Given the description of an element on the screen output the (x, y) to click on. 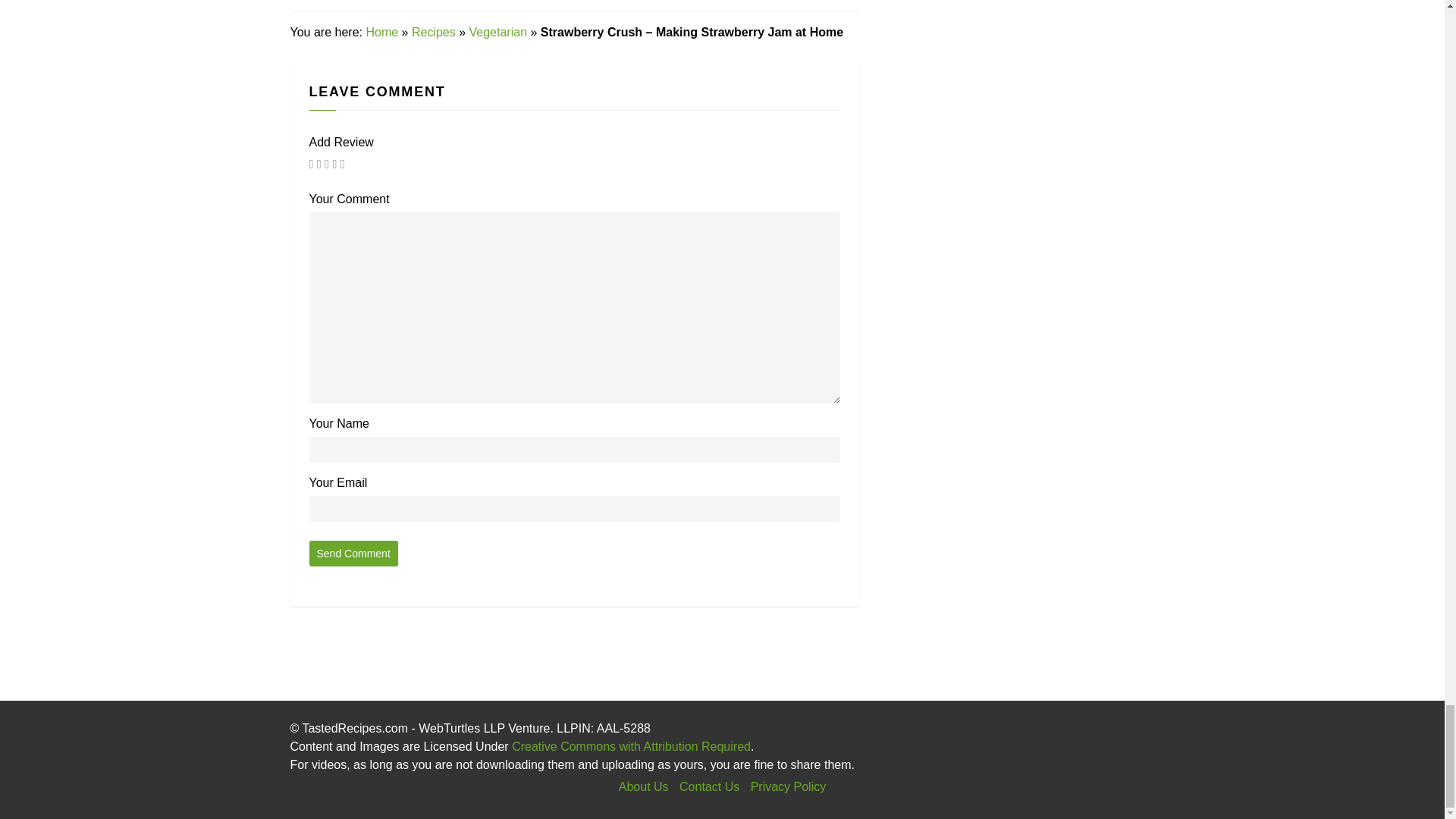
Send Comment (352, 553)
Send Comment (352, 553)
Vegetarian (497, 31)
Home (381, 31)
Recipes (433, 31)
